Given the description of an element on the screen output the (x, y) to click on. 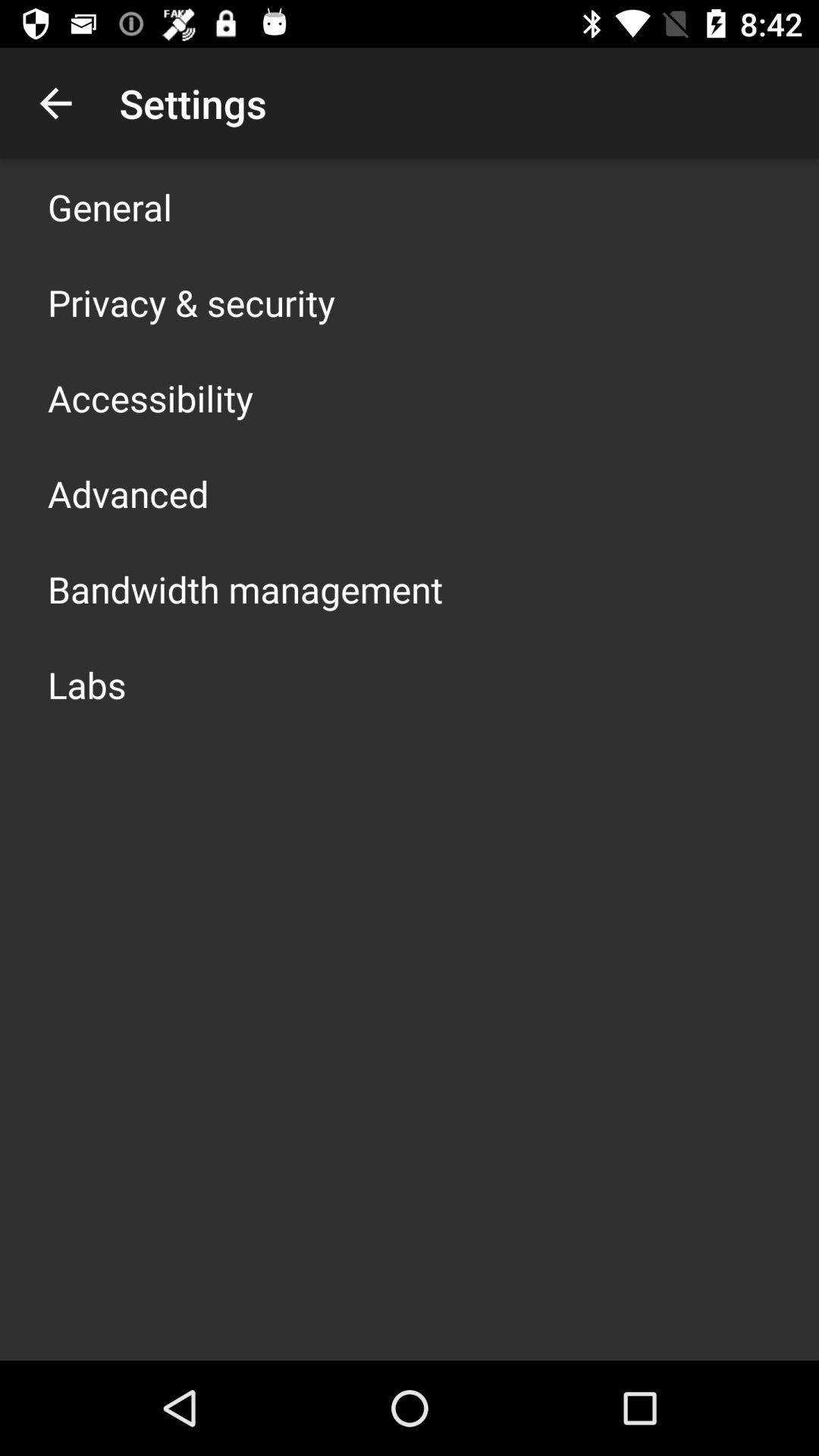
select item above advanced app (150, 397)
